Given the description of an element on the screen output the (x, y) to click on. 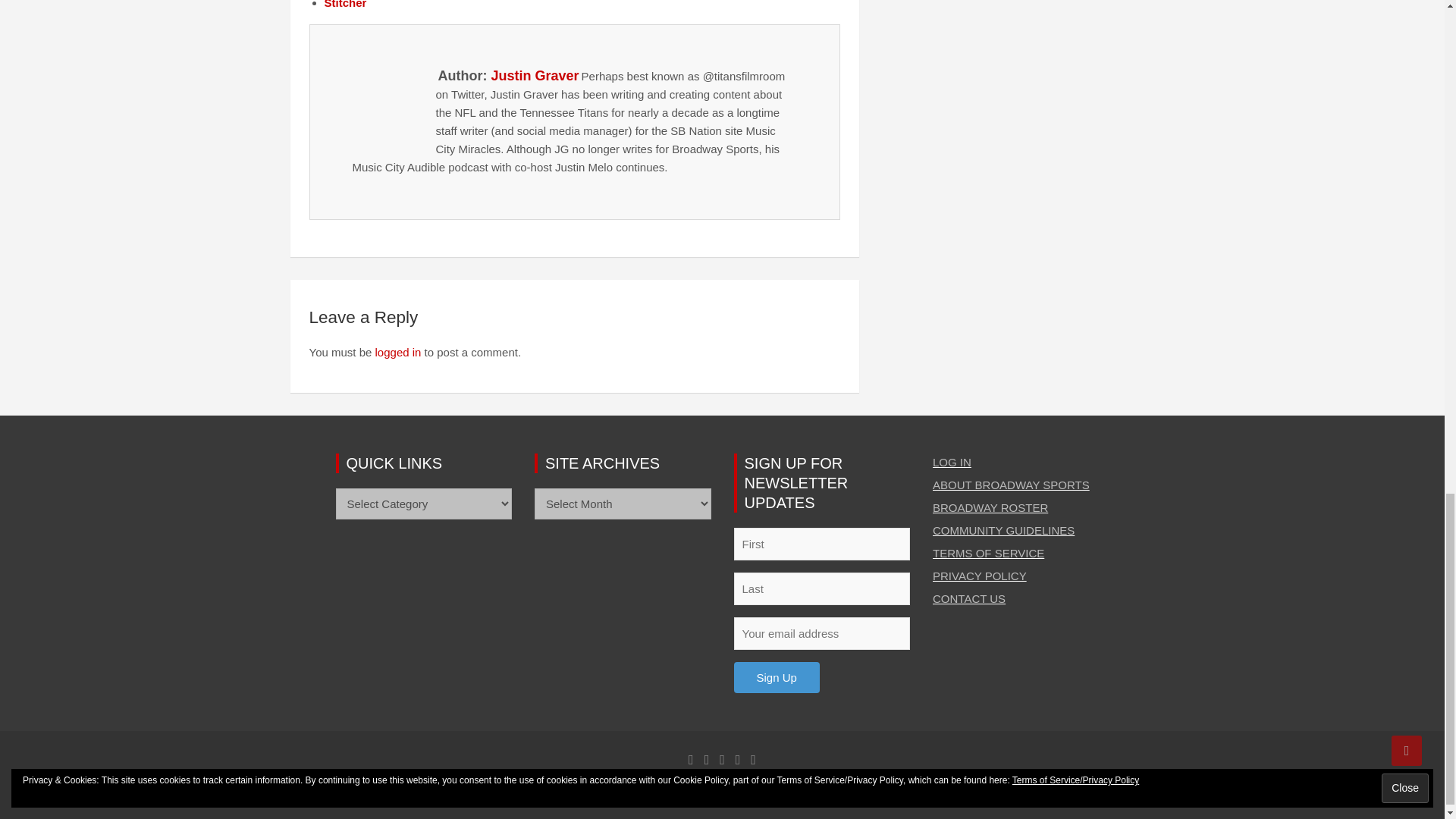
Sign Up (776, 676)
Broadway Sports Media (536, 789)
